Given the description of an element on the screen output the (x, y) to click on. 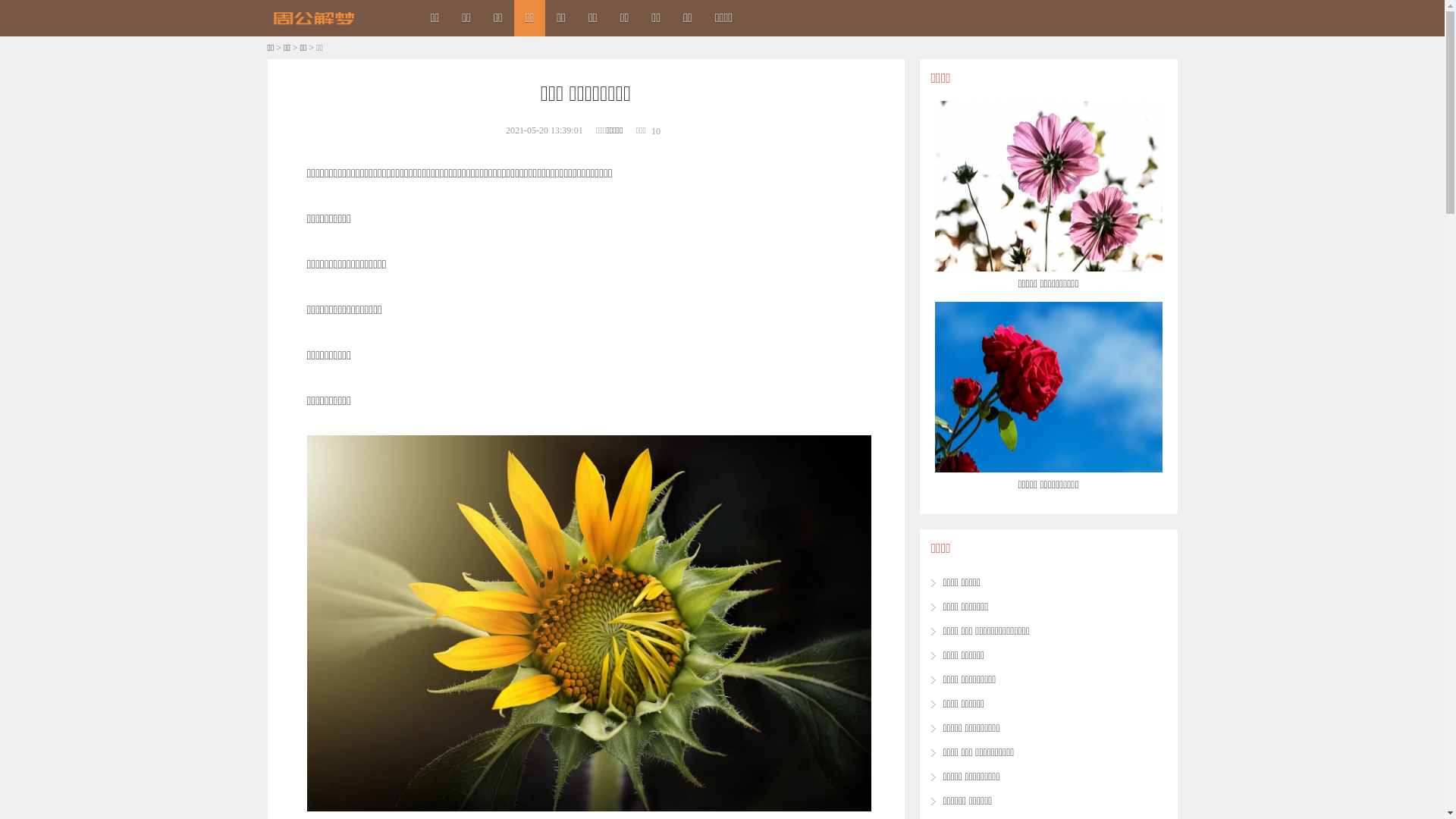
1620967815127726.png Element type: hover (588, 623)
